Given the description of an element on the screen output the (x, y) to click on. 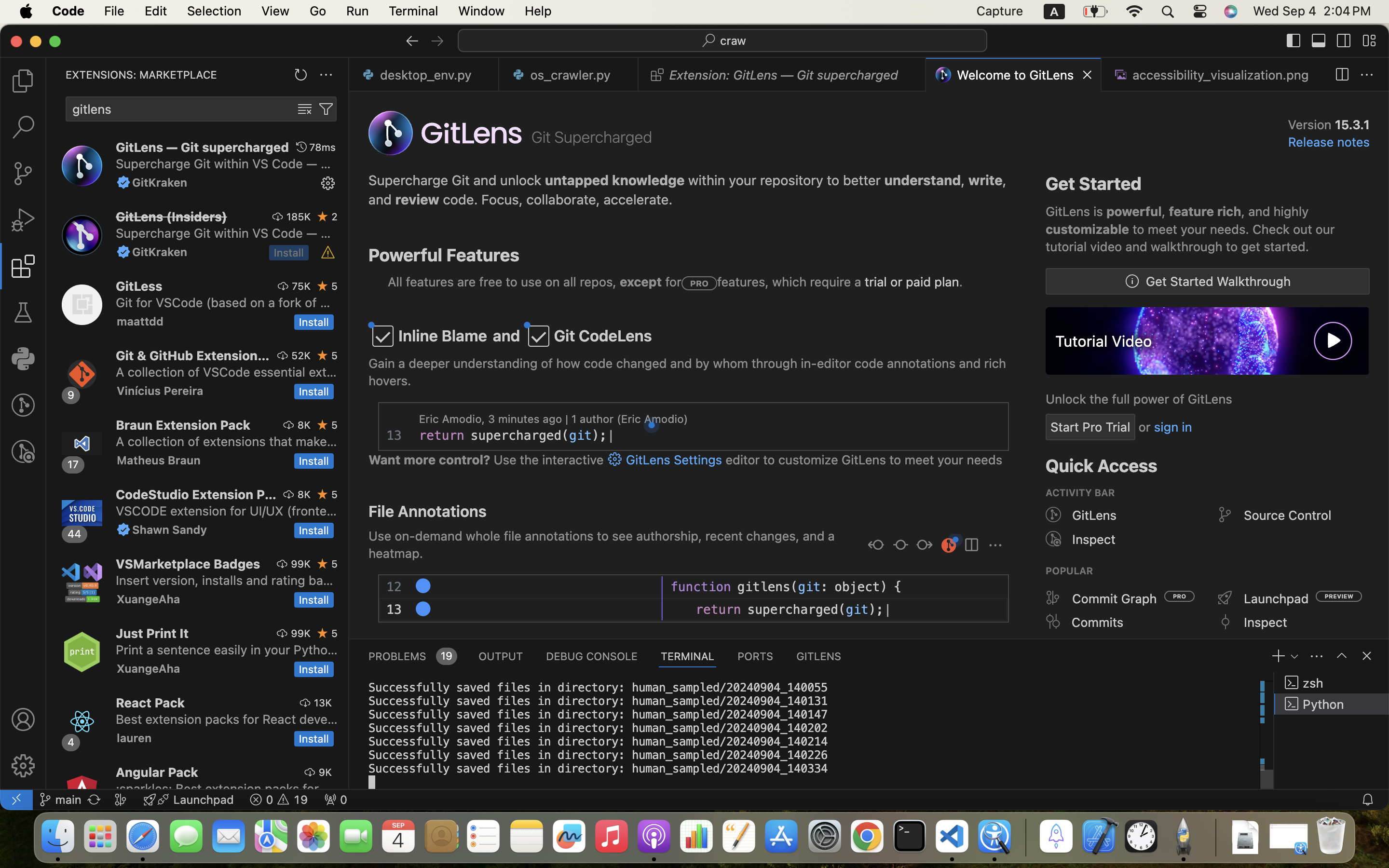
 Element type: AXStaticText (1224, 621)
 Element type: AXGroup (23, 219)
78ms Element type: AXStaticText (322, 146)
 Element type: AXGroup (23, 80)
 Element type: AXButton (1369, 40)
